Given the description of an element on the screen output the (x, y) to click on. 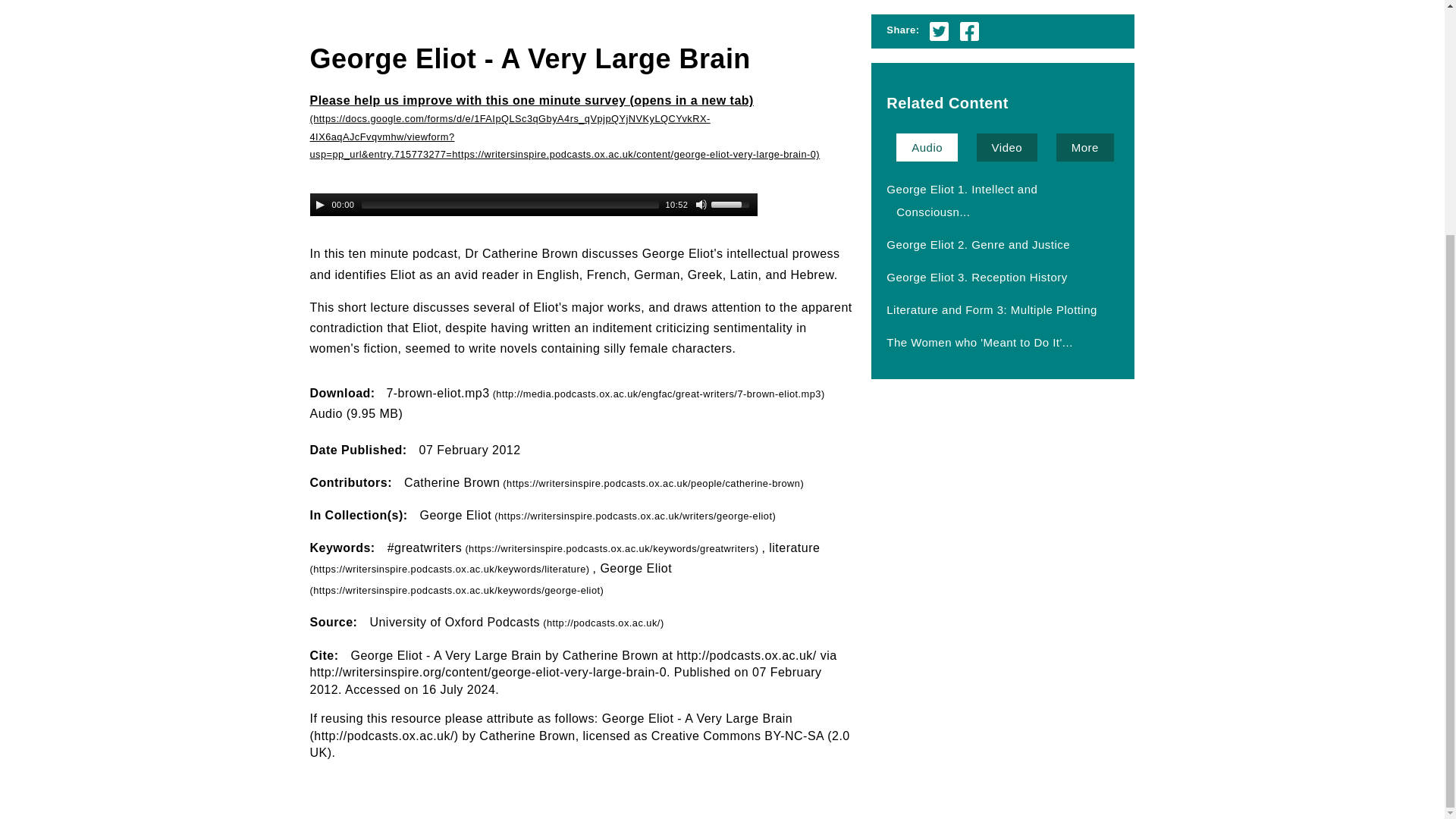
Audio (927, 147)
Catherine Brown (603, 481)
George Eliot (598, 514)
literature (563, 557)
George Eliot 1. Intellect and Consciousness (958, 199)
George Eliot 3. Reception History (975, 276)
More (1085, 147)
Literature and Form 3: Multiple Plotting (991, 309)
Video (1007, 147)
University of Oxford Podcasts (516, 621)
Facebook (968, 30)
Mute Toggle (701, 204)
Twitter (939, 30)
The Women who 'Meant to Do It'... (979, 341)
